Given the description of an element on the screen output the (x, y) to click on. 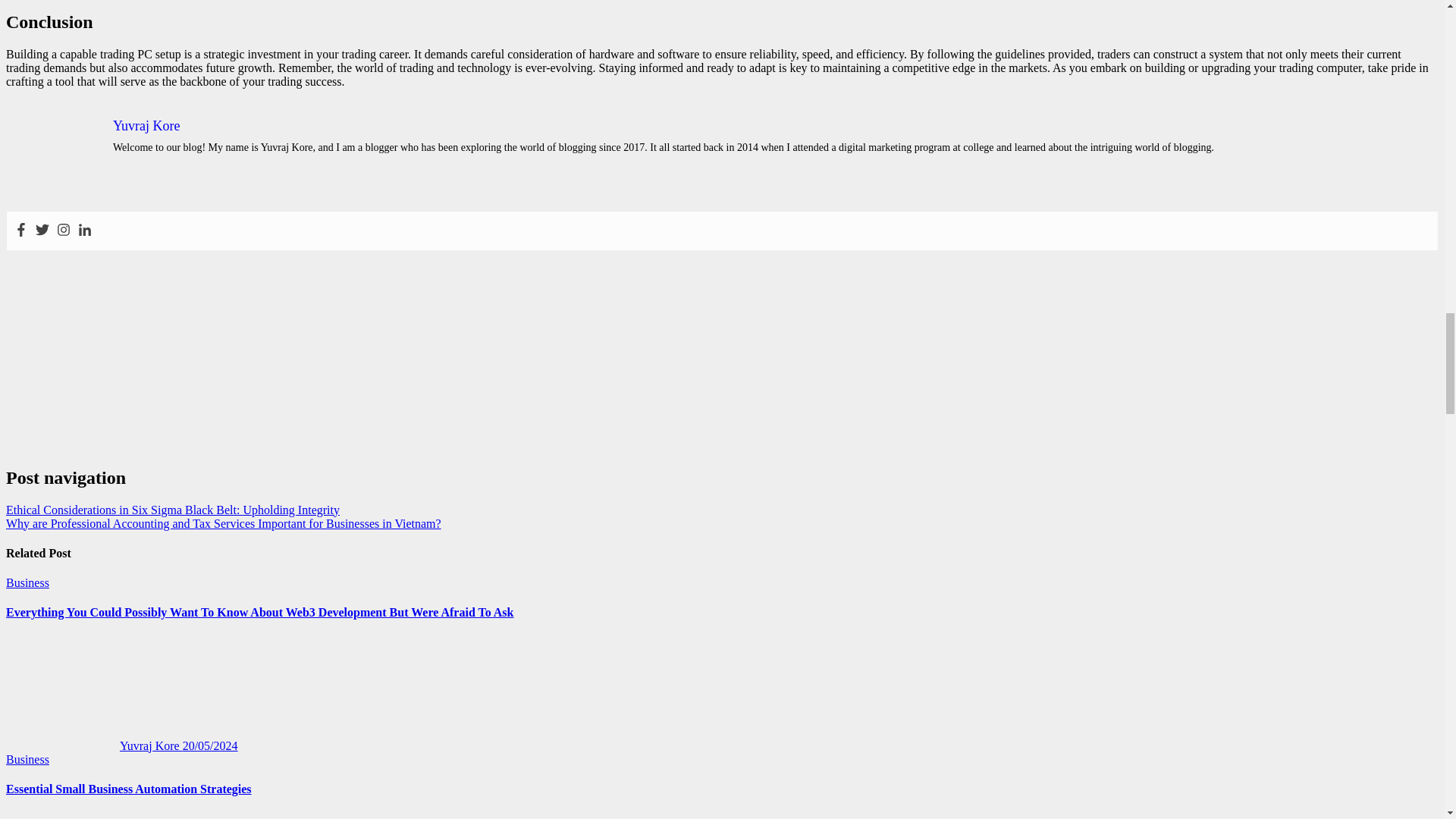
Business (27, 582)
Yuvraj Kore (146, 125)
Yuvraj Kore (94, 745)
Permalink to: Essential Small Business Automation Strategies (128, 788)
